Given the description of an element on the screen output the (x, y) to click on. 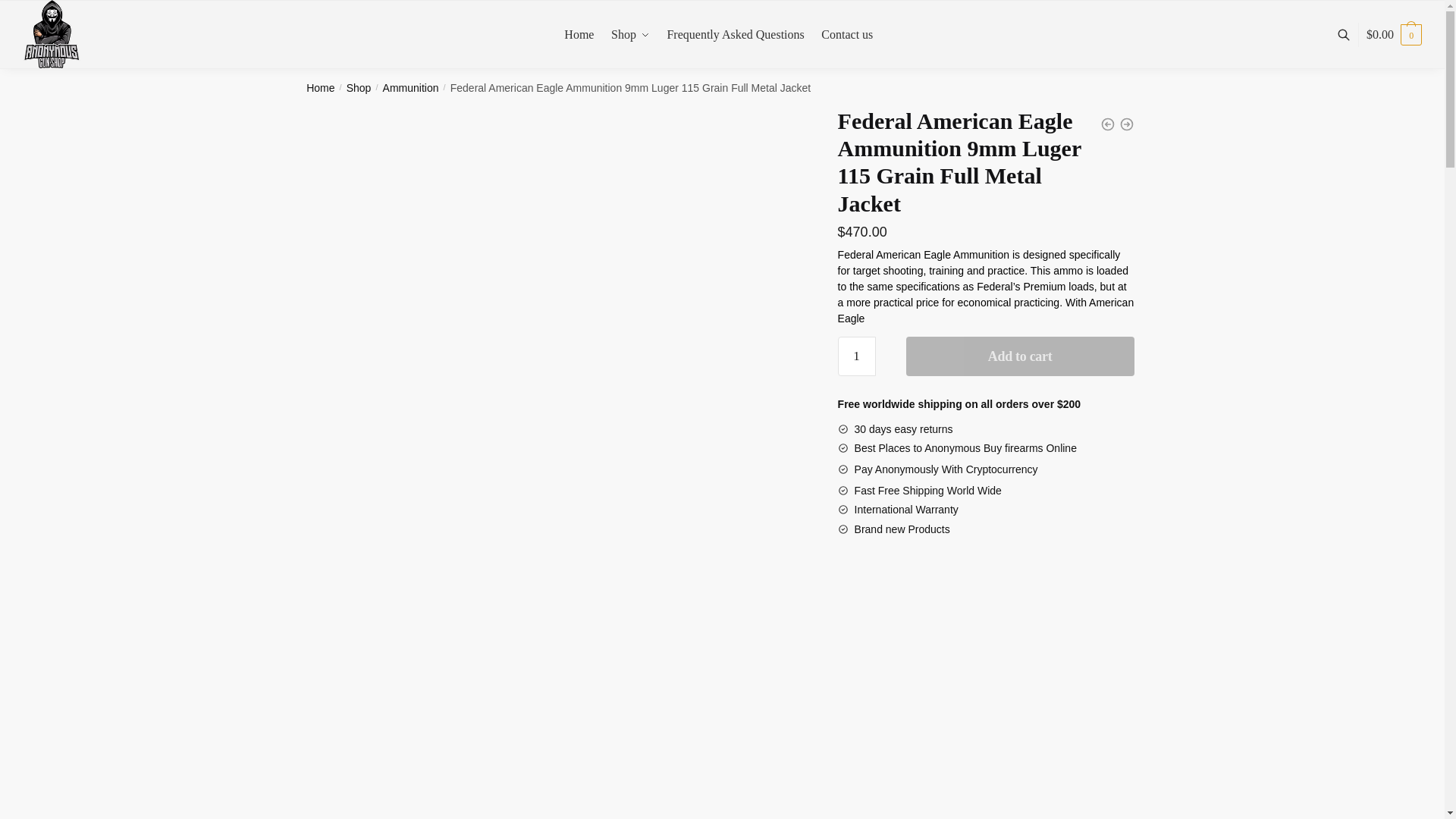
Contact us (847, 34)
Search (447, 222)
View your shopping cart (1394, 34)
1 (857, 355)
Frequently Asked Questions (735, 34)
